Given the description of an element on the screen output the (x, y) to click on. 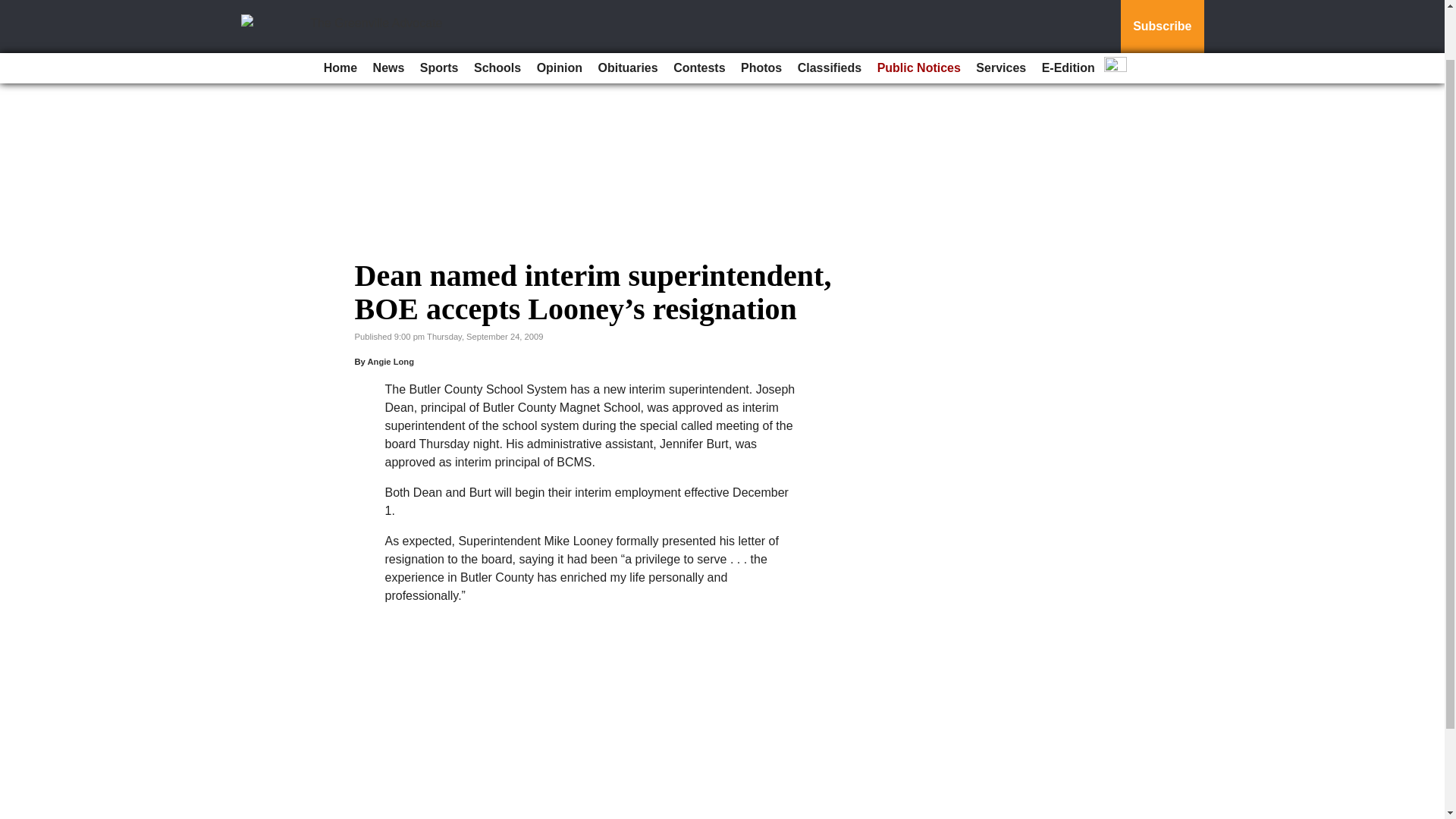
Home (339, 11)
Contests (698, 11)
Public Notices (918, 11)
Services (1000, 11)
Schools (497, 11)
Photos (761, 11)
E-Edition (1067, 11)
Sports (438, 11)
News (388, 11)
Classifieds (829, 11)
Opinion (559, 11)
Obituaries (627, 11)
Angie Long (389, 361)
